Given the description of an element on the screen output the (x, y) to click on. 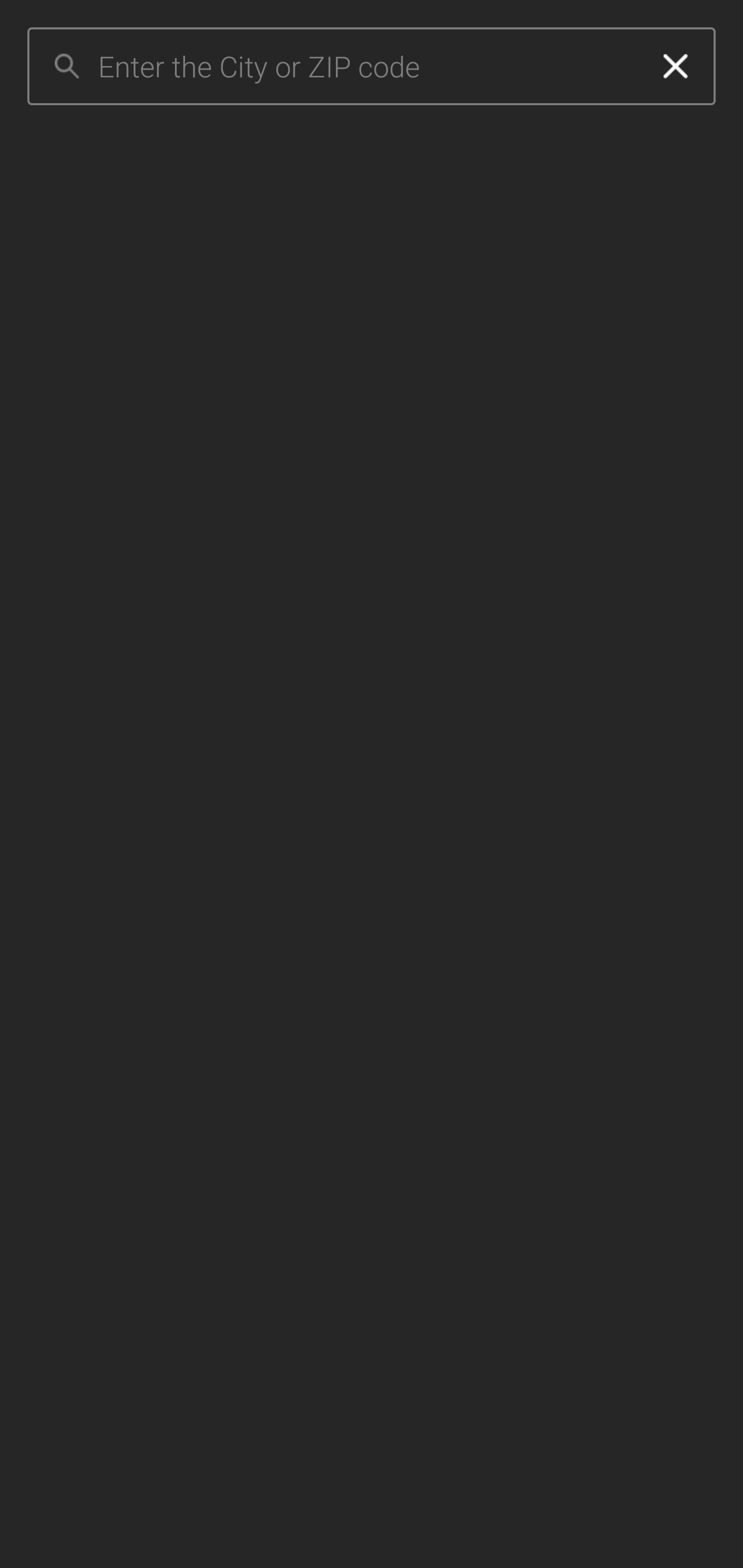
Enter the City or ZIP code (367, 66)
